Given the description of an element on the screen output the (x, y) to click on. 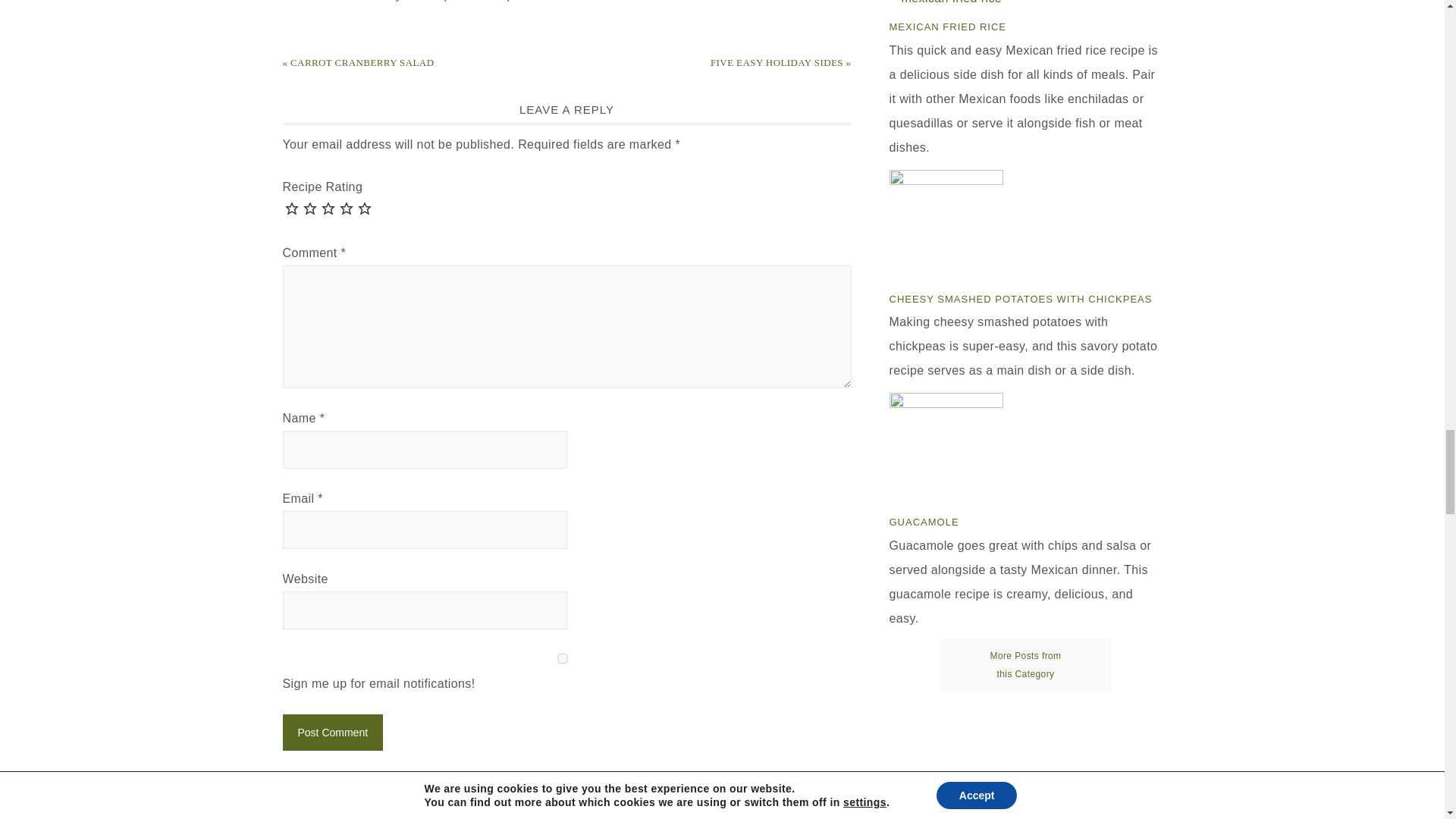
1 (561, 658)
subscribe (287, 779)
Post Comment (332, 732)
Post Comment (332, 732)
Sides (1024, 664)
